Given the description of an element on the screen output the (x, y) to click on. 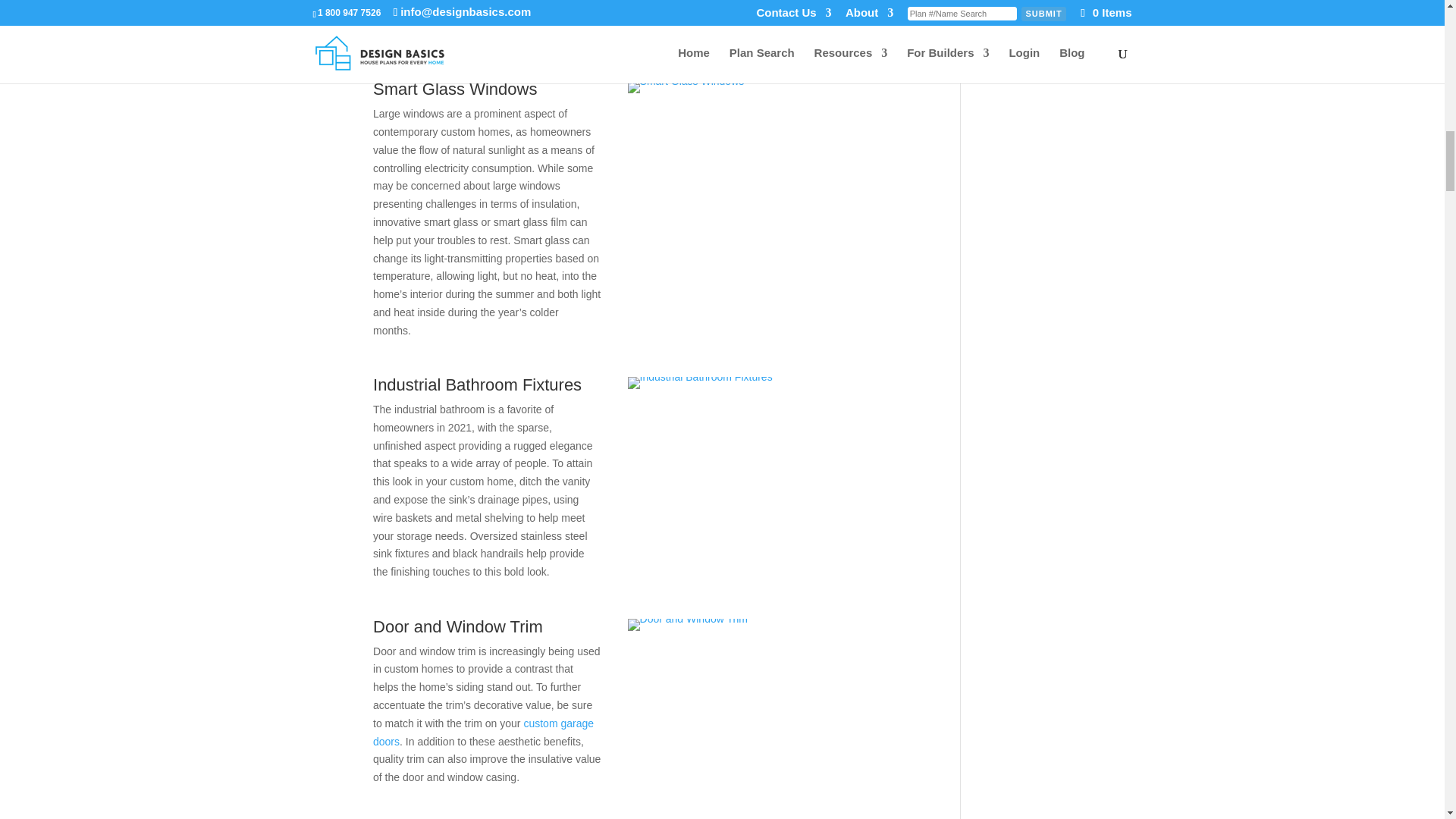
Smart Glass Windows (685, 92)
Industrial Bathroom Fixtures (700, 388)
Industrial Bathroom Fixtures (700, 382)
Smart Glass Windows (685, 87)
Door and Window Trim (687, 624)
Door and Window Trim (687, 630)
